Given the description of an element on the screen output the (x, y) to click on. 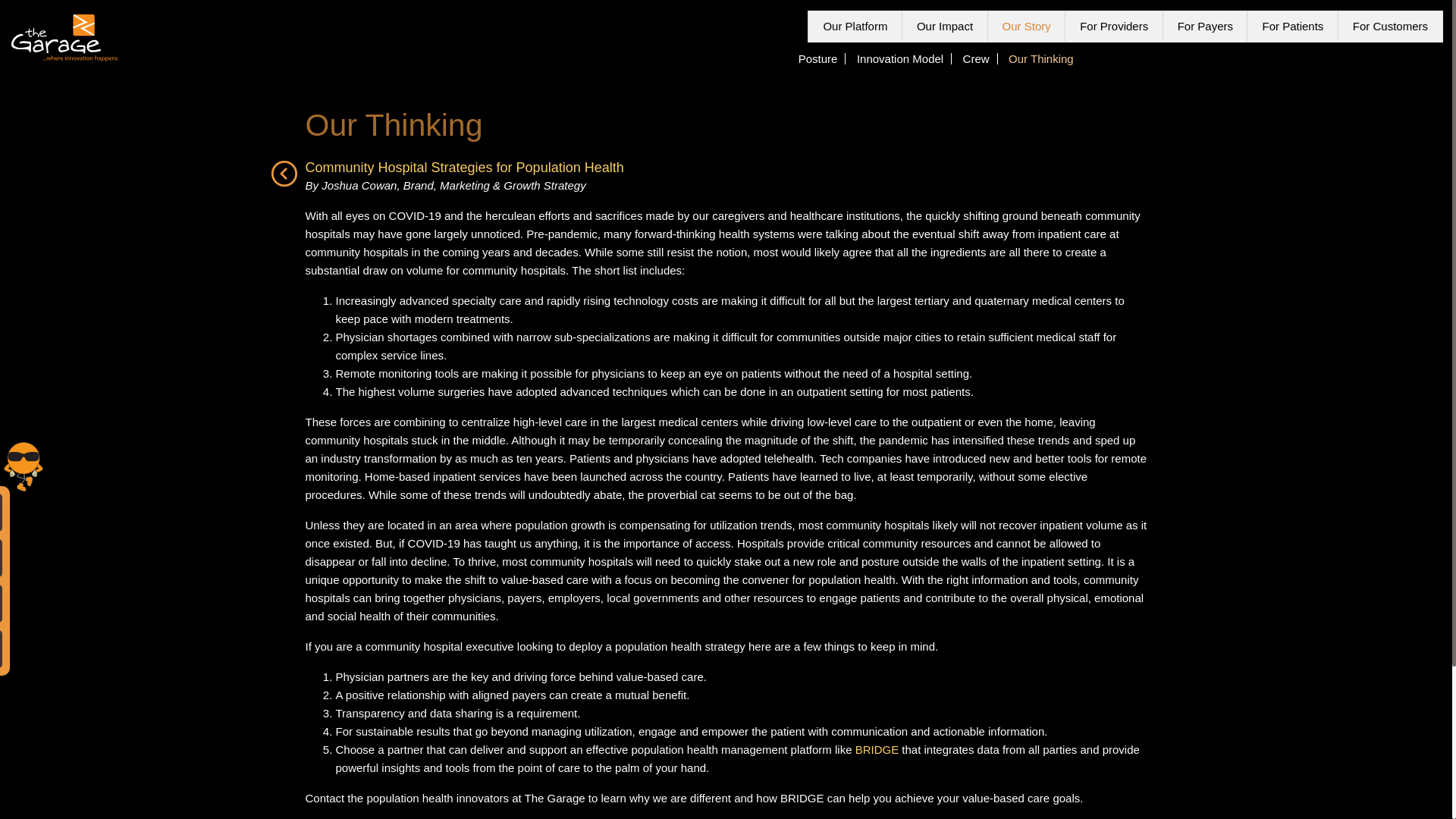
For Payers (1204, 26)
Innovation Model (900, 58)
Crew (976, 58)
For Providers (1113, 26)
For Patients (1292, 26)
Our Impact (944, 26)
BRIDGE (877, 748)
Posture (817, 58)
Our Platform (855, 26)
Our Thinking (1041, 58)
